Given the description of an element on the screen output the (x, y) to click on. 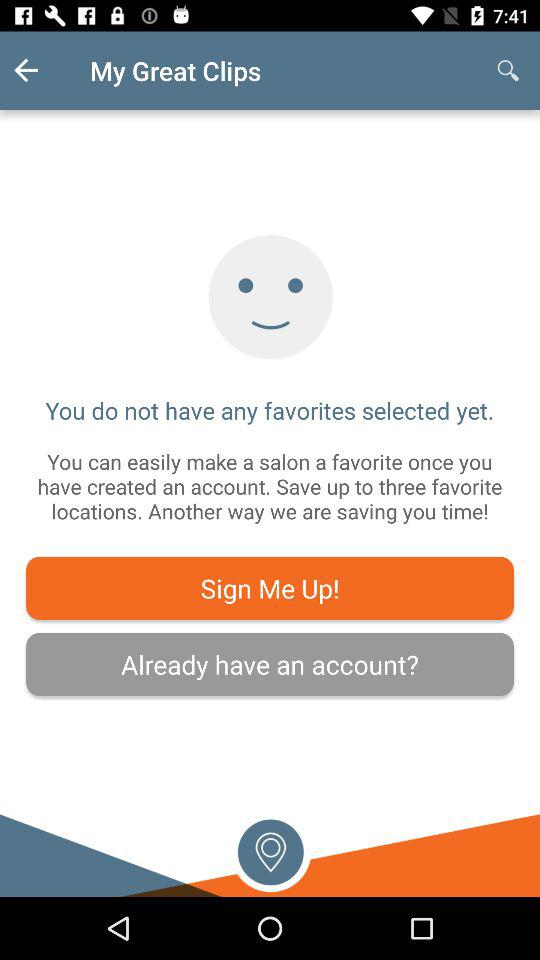
click item above you do not item (508, 70)
